Given the description of an element on the screen output the (x, y) to click on. 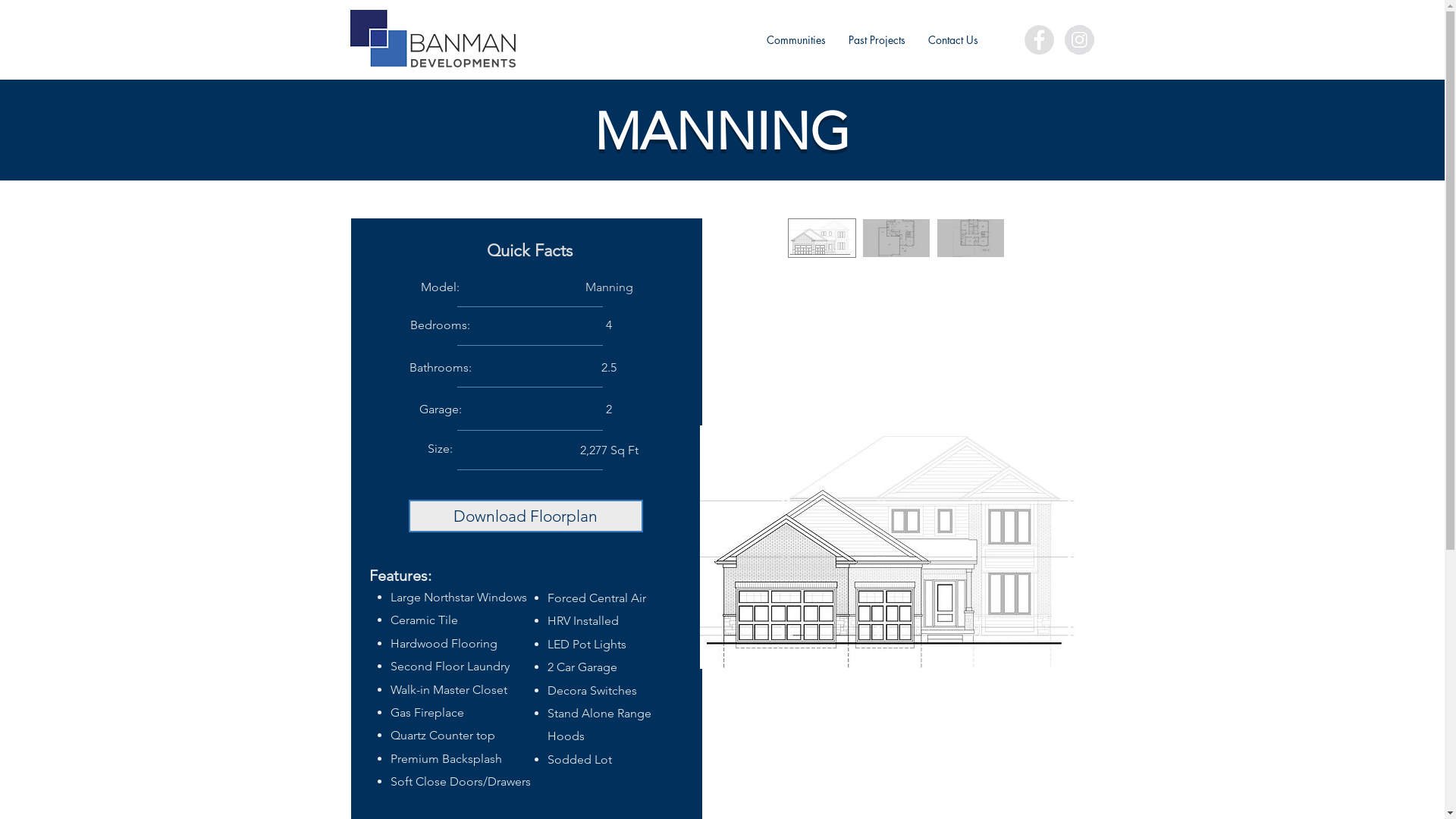
Download Floorplan Element type: text (524, 515)
Communities Element type: text (796, 39)
Contact Us Element type: text (952, 39)
